Given the description of an element on the screen output the (x, y) to click on. 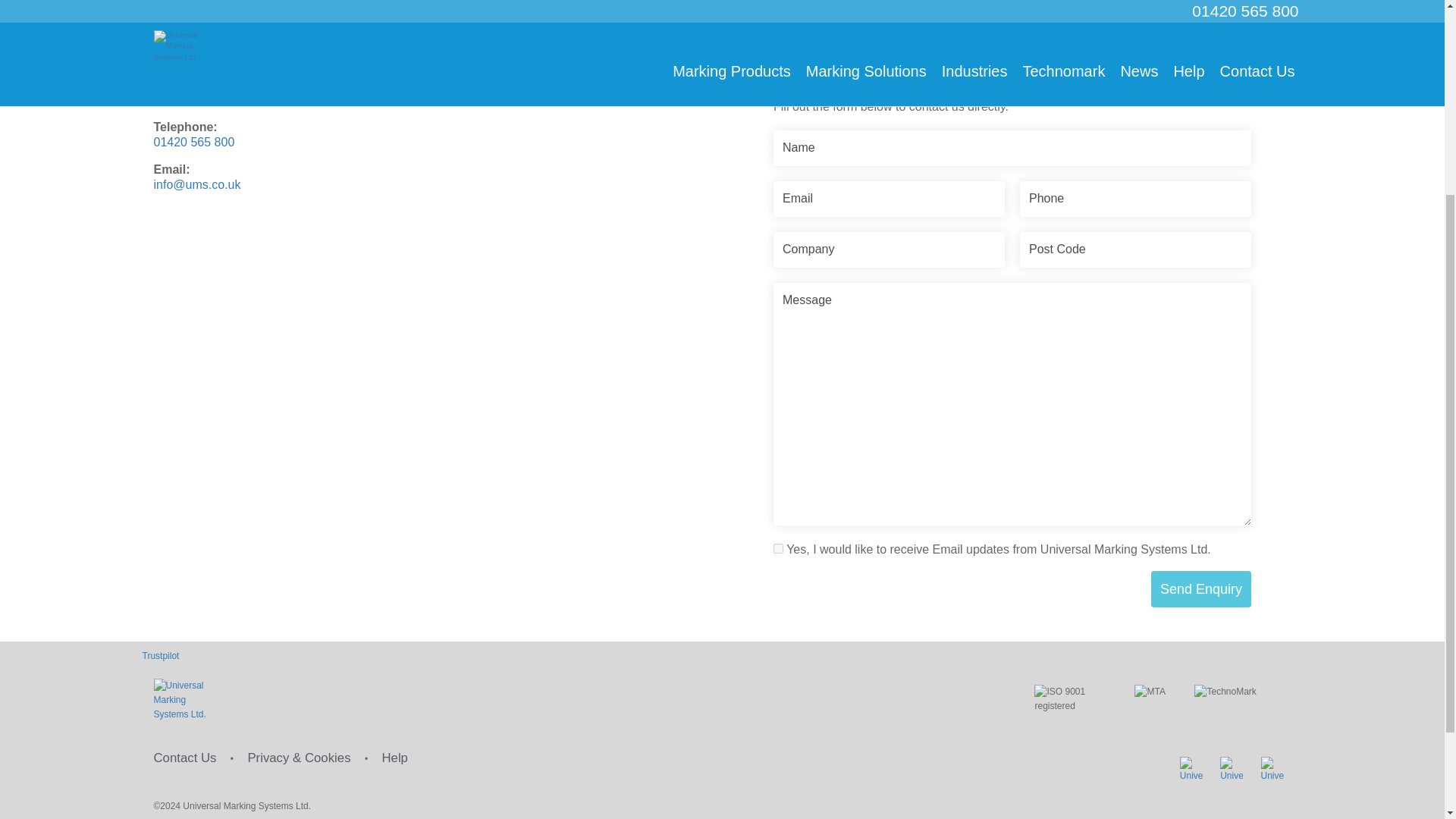
Email (888, 198)
MTA (1150, 703)
Post Code (1135, 249)
Universal Marking Systems Ltd. (183, 700)
ISO 9001 registered (1070, 705)
Twitter (1190, 767)
Send Enquiry (1200, 588)
Name (1011, 148)
Linked In (1231, 767)
Yes (778, 548)
TechnoMark (1235, 700)
YouTube (1271, 767)
Company (888, 249)
Phone (1135, 198)
